Given the description of an element on the screen output the (x, y) to click on. 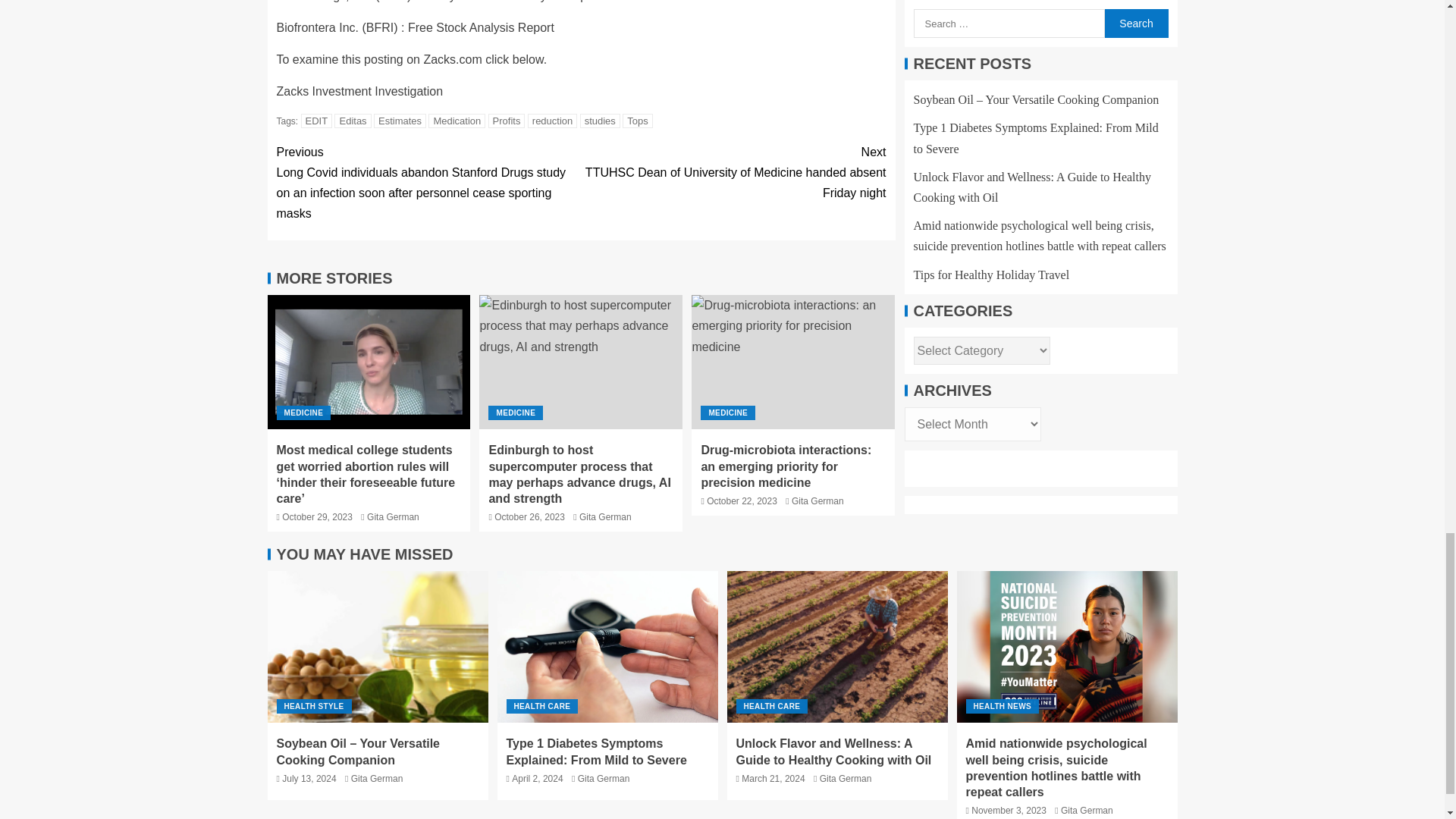
Estimates (400, 120)
Type 1 Diabetes Symptoms Explained: From Mild to Severe (607, 646)
EDIT (317, 120)
reduction (551, 120)
studies (599, 120)
Zacks Investment Investigation (359, 91)
To examine this posting on Zacks.com click below. (411, 59)
Medication (456, 120)
Editas (352, 120)
Profits (506, 120)
